Given the description of an element on the screen output the (x, y) to click on. 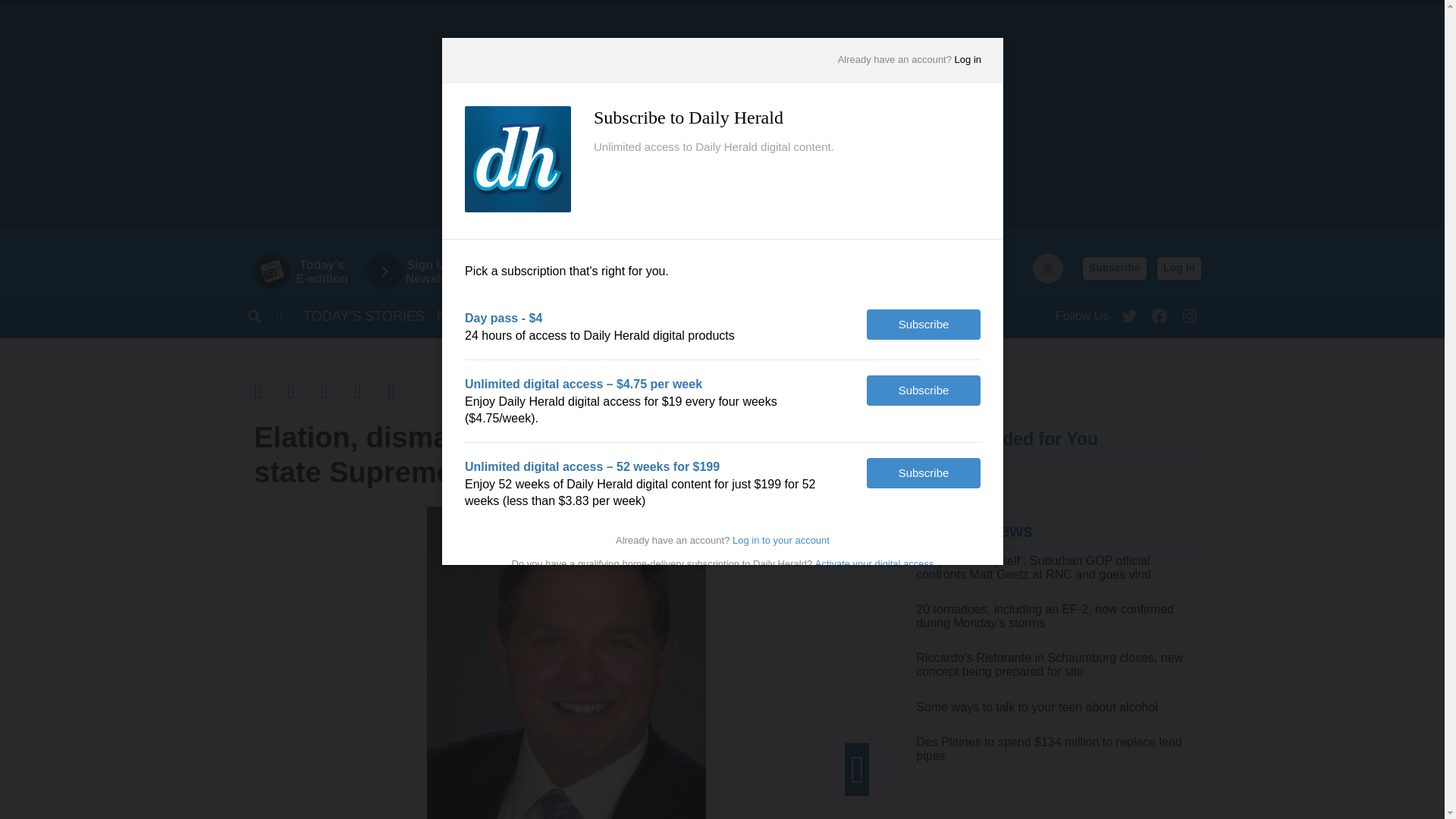
Twitter (1129, 312)
LIFESTYLE (966, 315)
Entertainment (860, 315)
Instagram (1189, 312)
Facebook (1159, 312)
Log In (1179, 268)
BUSINESS (757, 315)
OBITUARIES (668, 315)
Lifestyle (966, 315)
Business (757, 315)
OPINION (586, 315)
Sports (517, 315)
Share via Email (336, 391)
ENTERTAINMENT (860, 315)
Opinion (586, 315)
